Given the description of an element on the screen output the (x, y) to click on. 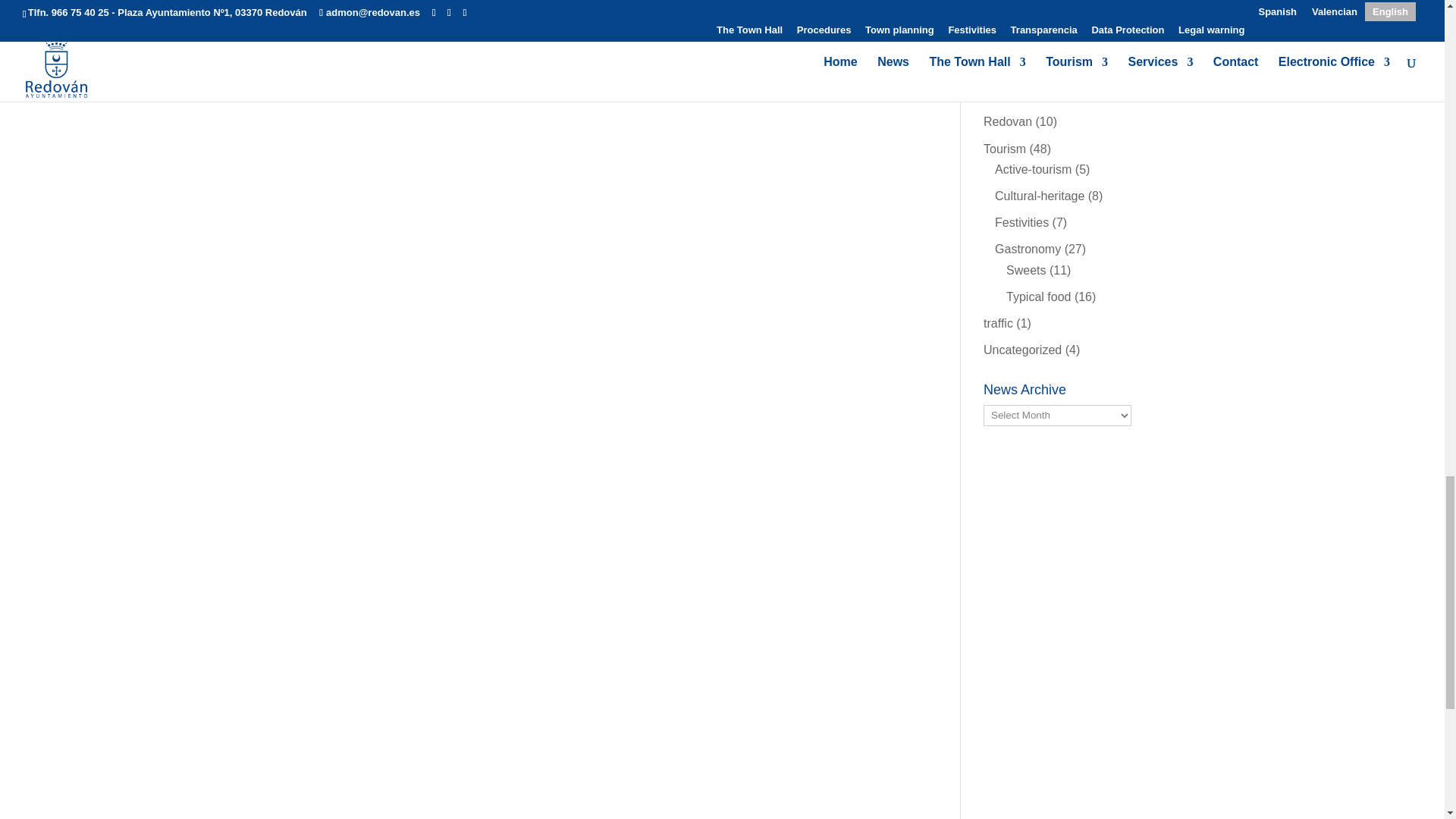
Descargar en Appstore (1005, 813)
Descargar en google Play (1005, 779)
